Given the description of an element on the screen output the (x, y) to click on. 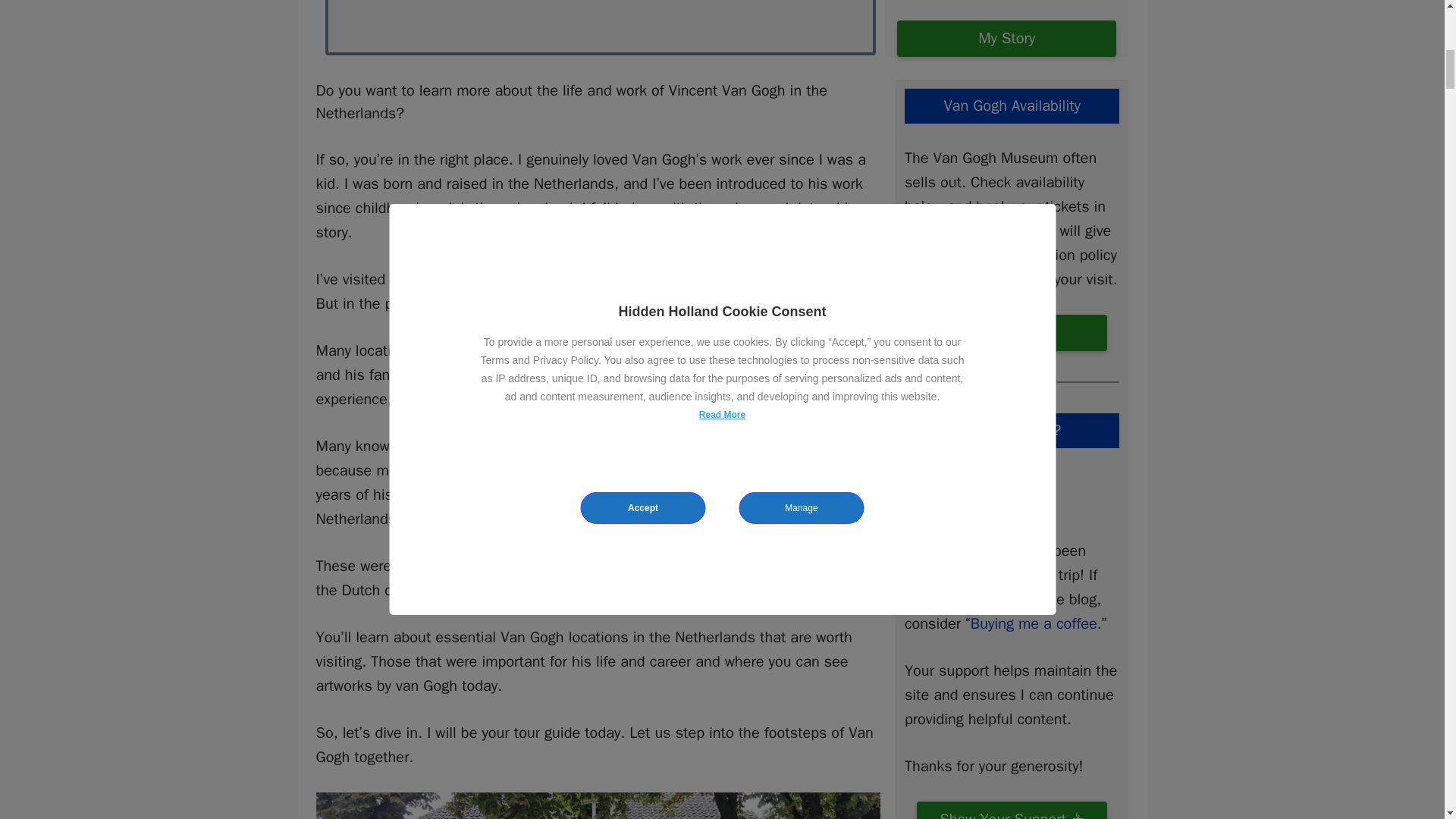
Scroll back to top (1406, 720)
van-gogh-vicarage (597, 805)
